Given the description of an element on the screen output the (x, y) to click on. 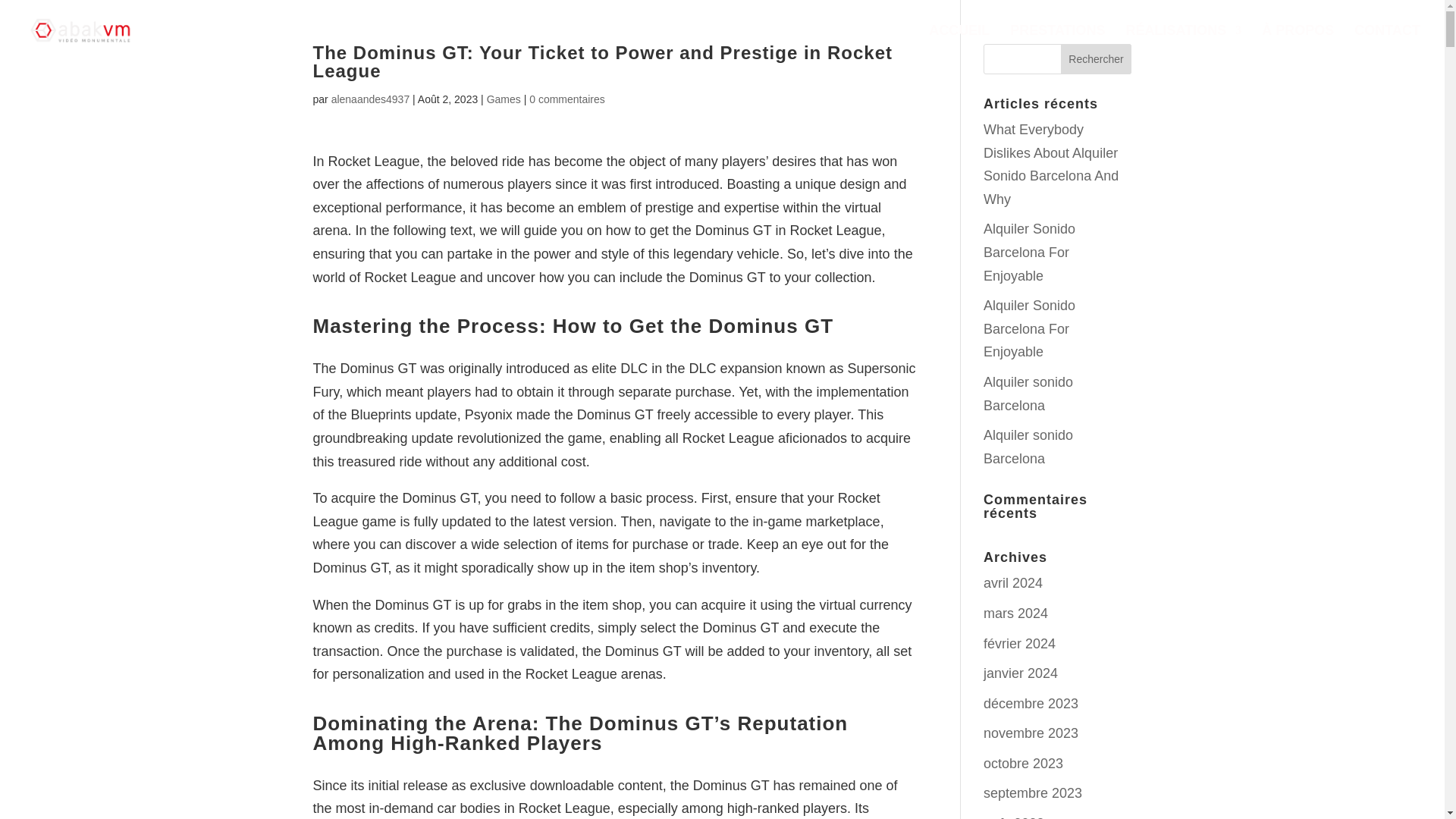
alenaandes4937 (370, 99)
Articles de alenaandes4937 (370, 99)
octobre 2023 (1023, 763)
Rechercher (1096, 59)
0 commentaires (567, 99)
PRESTATIONS (1057, 42)
Alquiler Sonido Barcelona For Enjoyable (1029, 328)
avril 2024 (1013, 582)
CONTACT (1387, 42)
